Given the description of an element on the screen output the (x, y) to click on. 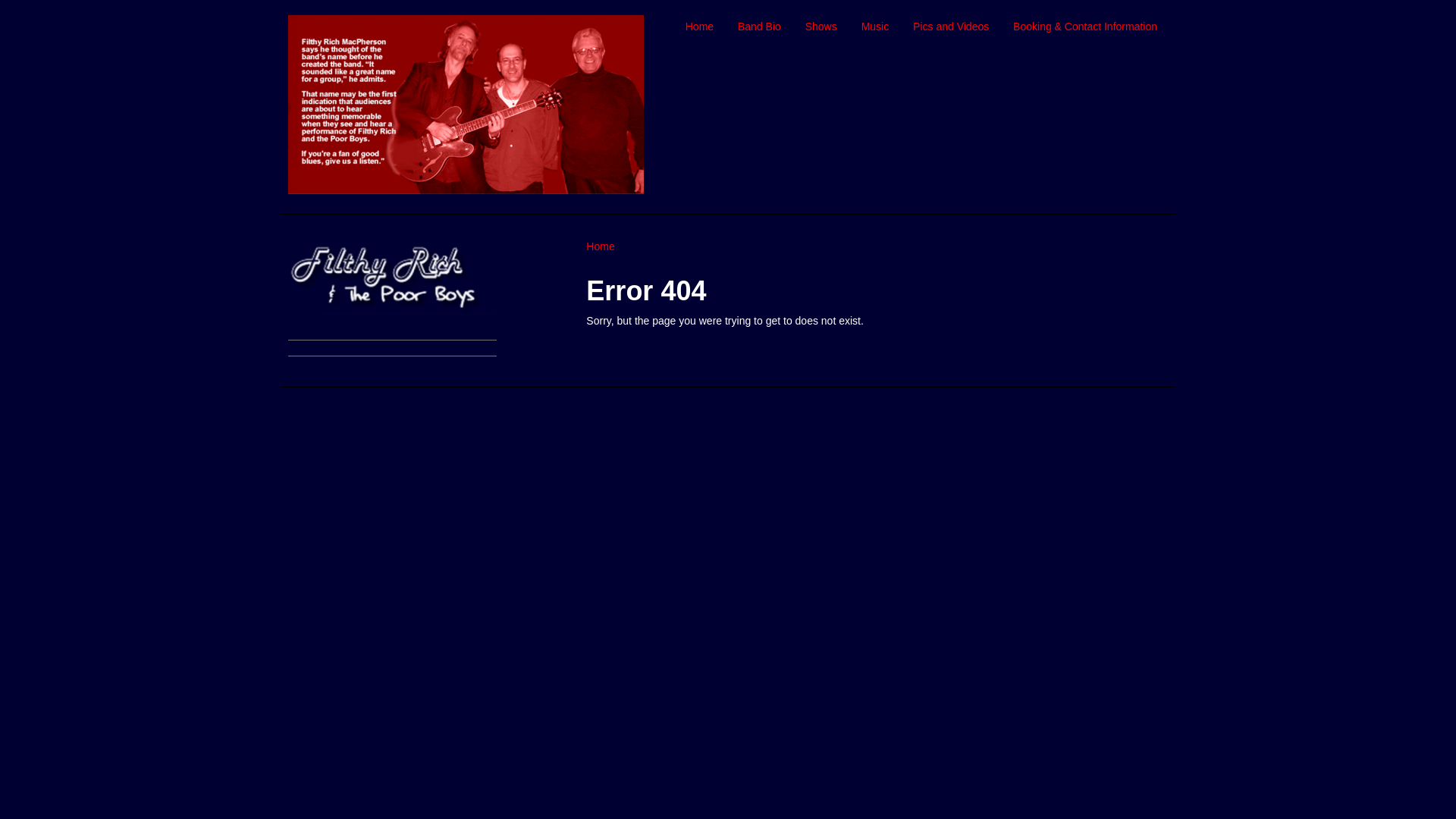
Booking & Contact Information Element type: text (1084, 26)
Pics and Videos Element type: text (950, 26)
Home Element type: text (699, 26)
Band Bio Element type: text (759, 26)
Music Element type: text (875, 26)
Home Element type: text (600, 246)
Shows Element type: text (820, 26)
